Given the description of an element on the screen output the (x, y) to click on. 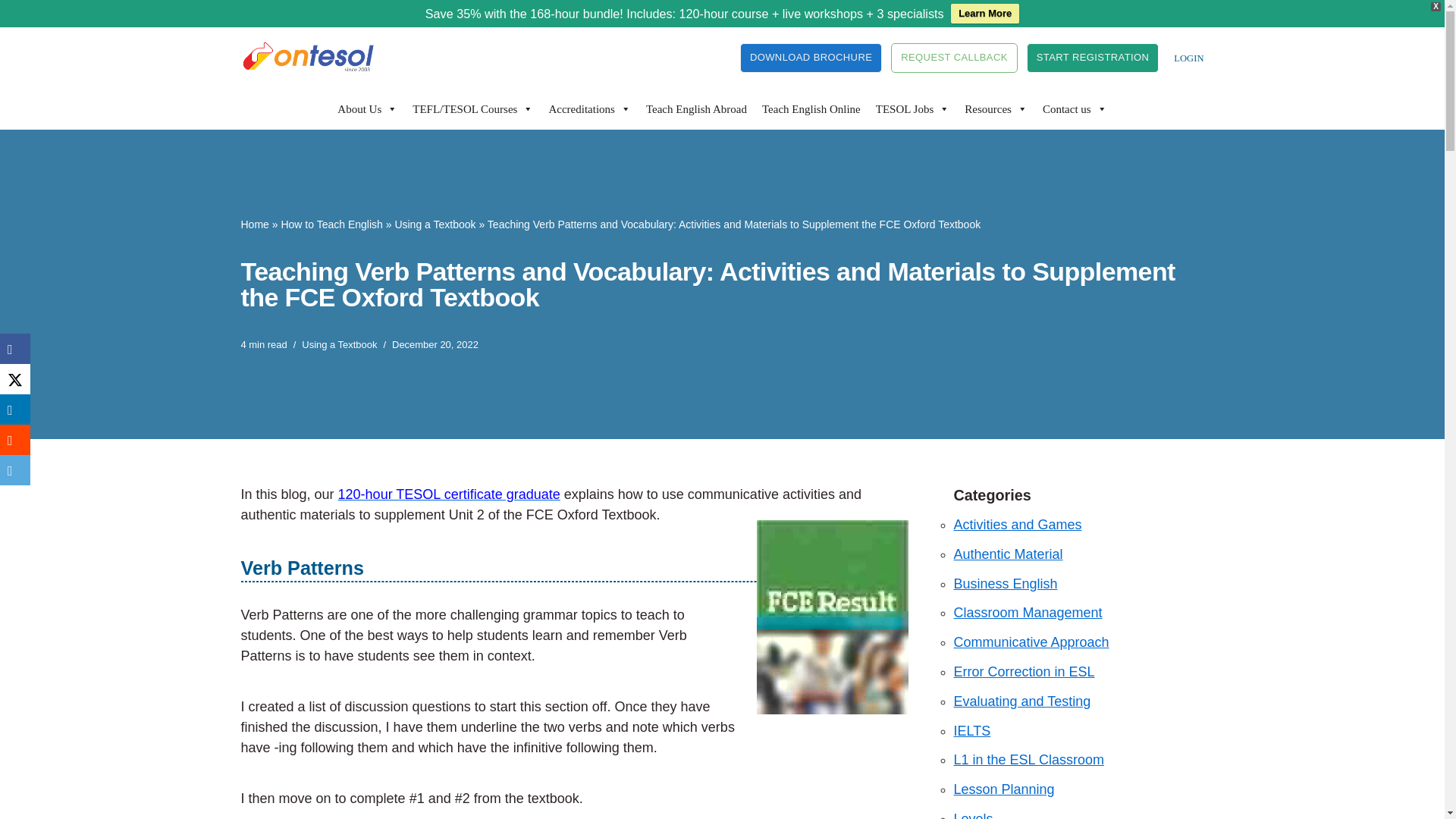
DOWNLOAD BROCHURE (810, 57)
Learn More (984, 13)
Teach English Abroad (696, 108)
START REGISTRATION (1092, 57)
About Us (367, 108)
Teach English Online (810, 108)
REQUEST CALLBACK (954, 57)
LOGIN (1188, 58)
Skip to content (11, 58)
Accreditations (588, 108)
